Given the description of an element on the screen output the (x, y) to click on. 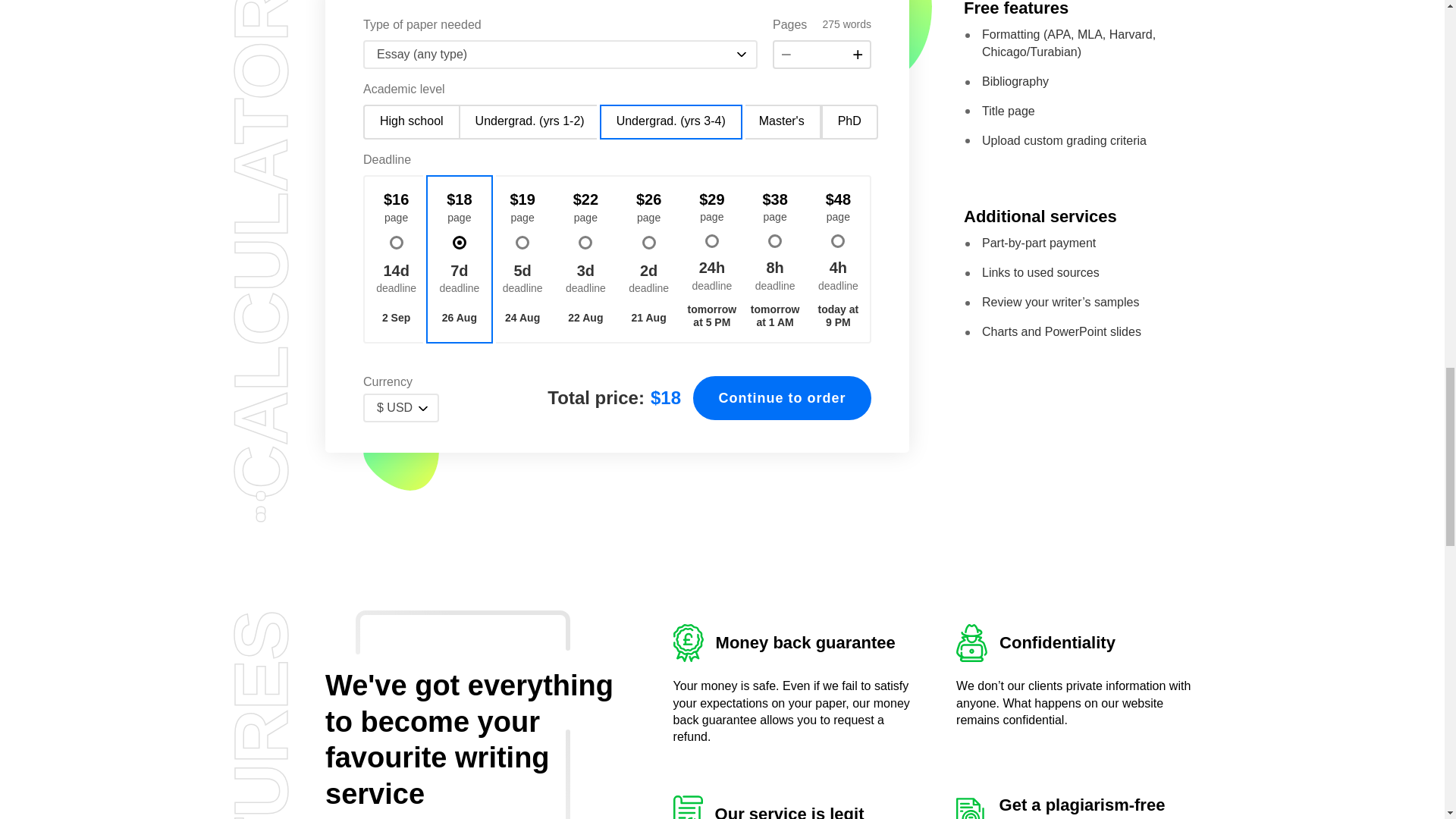
5 days (523, 278)
Increase (857, 54)
Decrease (785, 54)
2 days (648, 278)
14 days (396, 278)
Continue to order (781, 397)
7 days (458, 278)
3 days (585, 278)
